Given the description of an element on the screen output the (x, y) to click on. 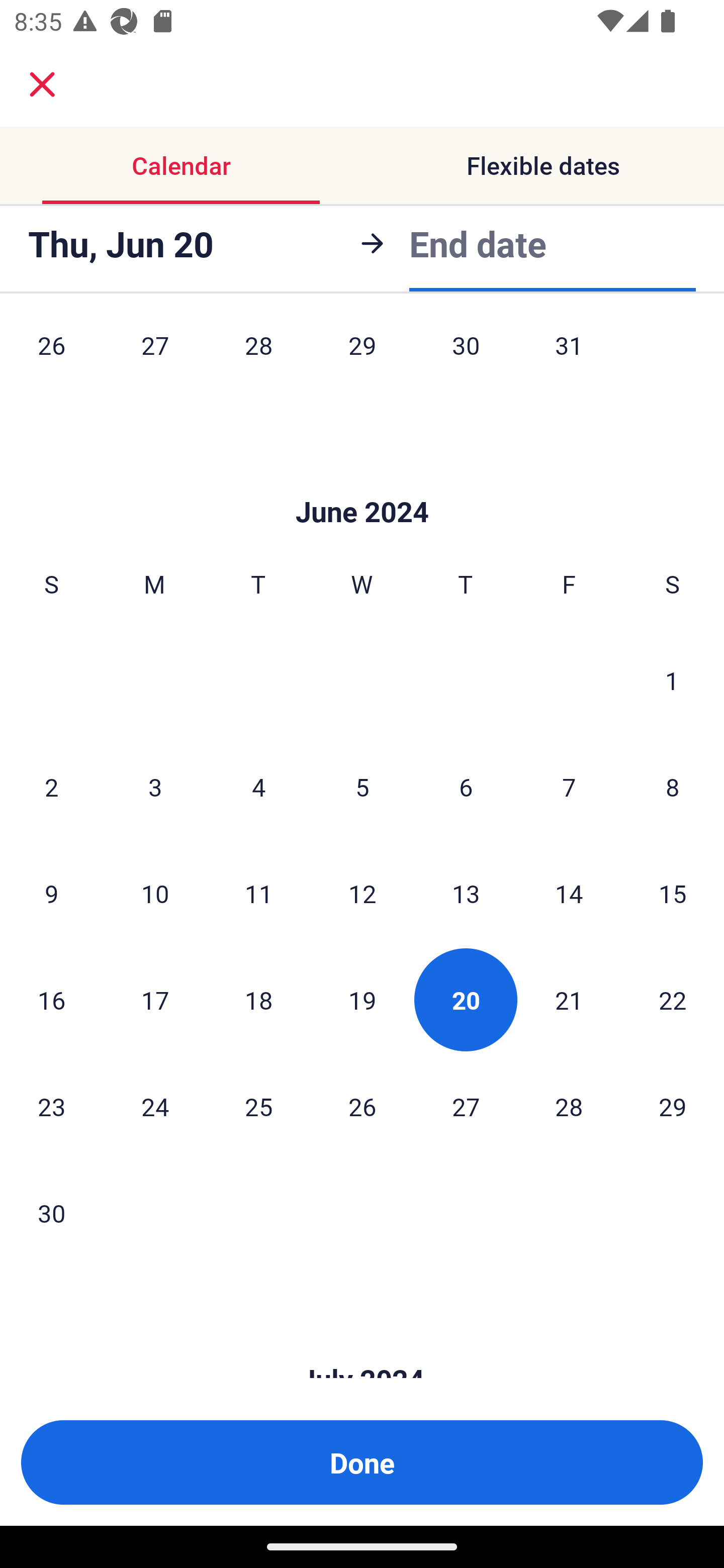
close. (42, 84)
Flexible dates (542, 164)
End date (477, 243)
26 Sunday, May 26, 2024 (51, 358)
27 Monday, May 27, 2024 (155, 358)
28 Tuesday, May 28, 2024 (258, 358)
29 Wednesday, May 29, 2024 (362, 358)
30 Thursday, May 30, 2024 (465, 358)
31 Friday, May 31, 2024 (569, 358)
Skip to Done (362, 481)
1 Saturday, June 1, 2024 (672, 680)
2 Sunday, June 2, 2024 (51, 786)
3 Monday, June 3, 2024 (155, 786)
4 Tuesday, June 4, 2024 (258, 786)
5 Wednesday, June 5, 2024 (362, 786)
6 Thursday, June 6, 2024 (465, 786)
7 Friday, June 7, 2024 (569, 786)
8 Saturday, June 8, 2024 (672, 786)
9 Sunday, June 9, 2024 (51, 893)
10 Monday, June 10, 2024 (155, 893)
